Given the description of an element on the screen output the (x, y) to click on. 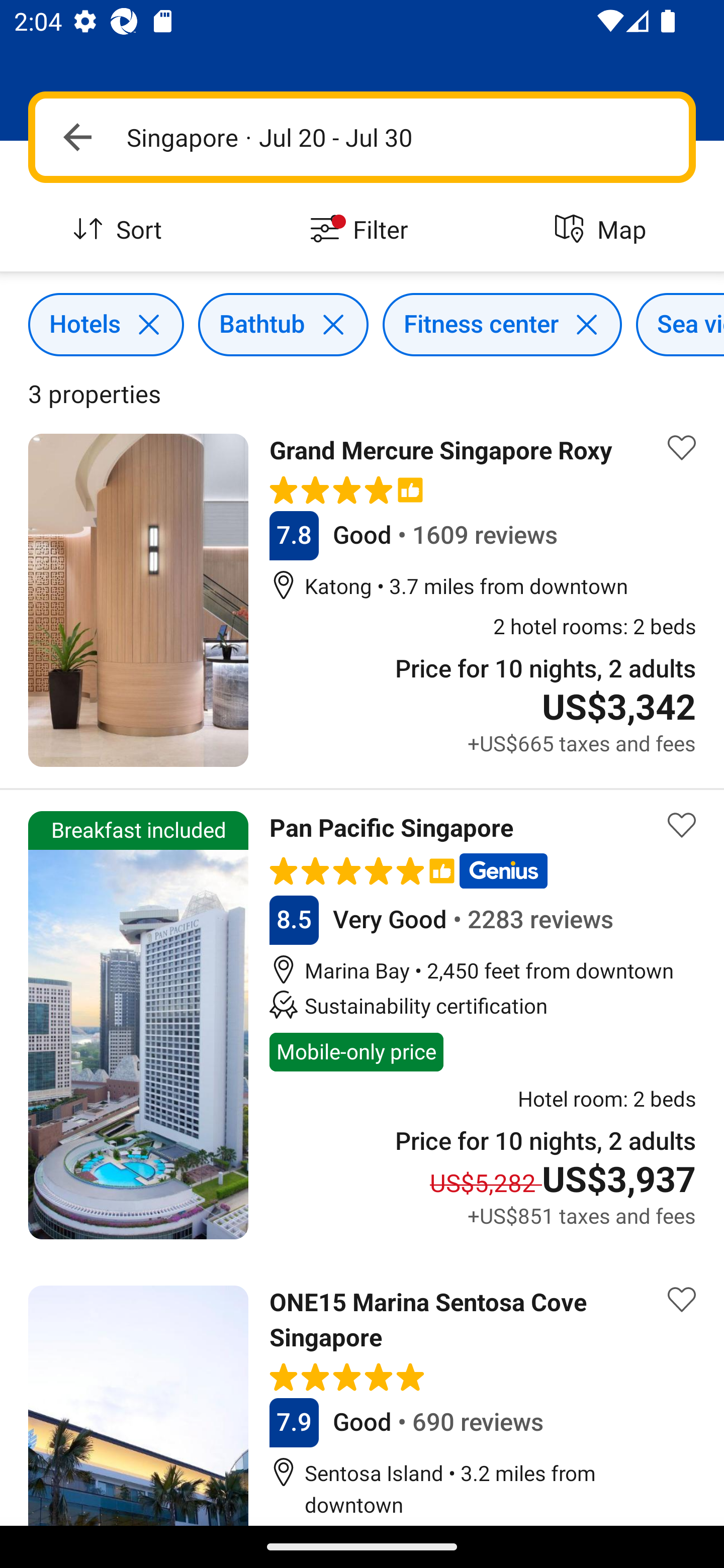
Navigate up Singapore · Jul 20 - Jul 30 (362, 136)
Navigate up (77, 136)
Sort (120, 230)
Filter (361, 230)
Map (603, 230)
Save property to list (681, 447)
Save property to list (681, 824)
Save property to list (681, 1299)
